Given the description of an element on the screen output the (x, y) to click on. 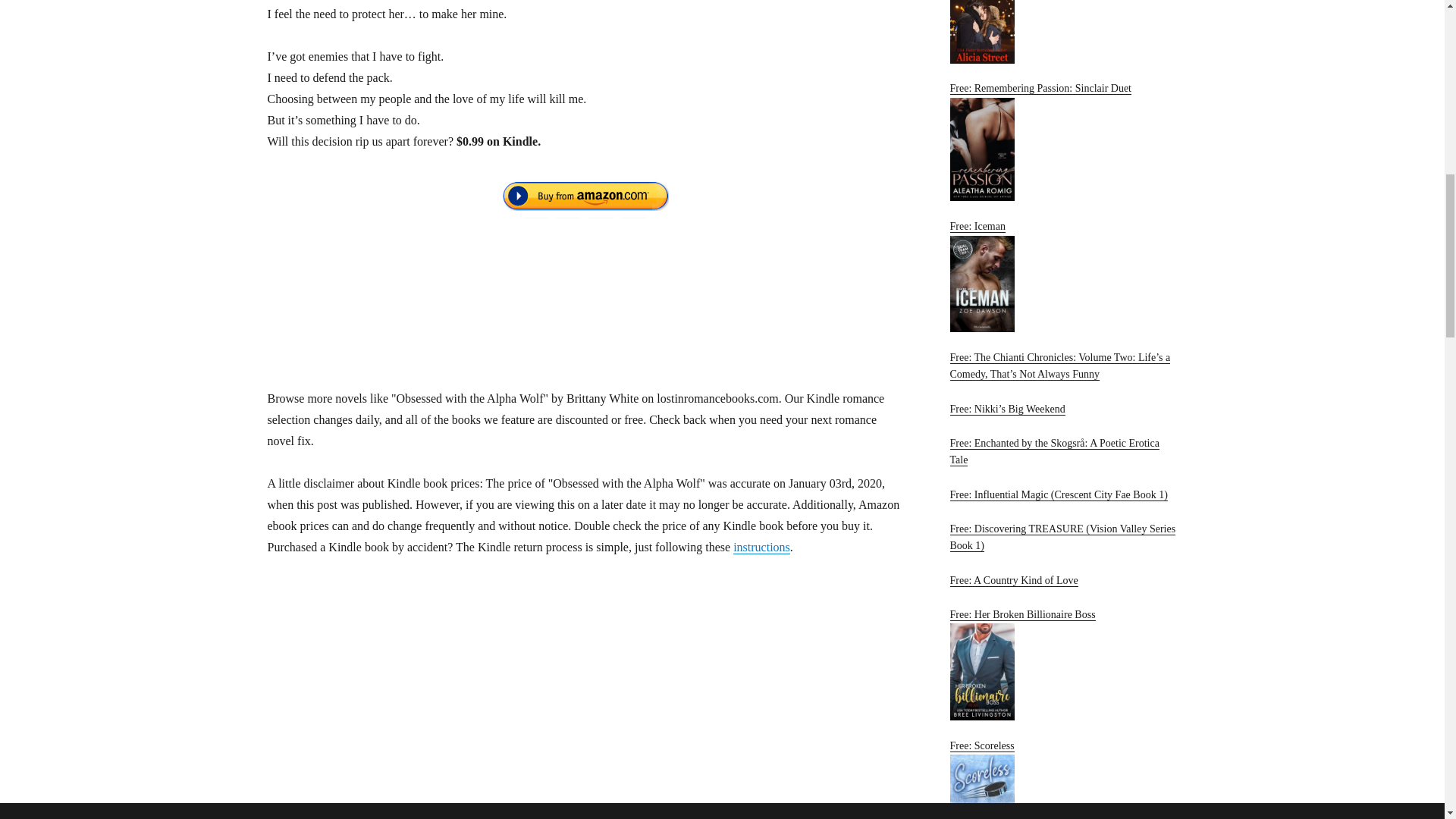
Free: Scoreless (1062, 779)
Free: Her Broken Billionaire Boss (1062, 664)
Free: Iceman (1062, 276)
Free: Remembering Passion: Sinclair Duet (1062, 141)
Free: Her Christmas Secret (1062, 31)
Free: A Country Kind of Love (1013, 580)
instructions (761, 546)
